Given the description of an element on the screen output the (x, y) to click on. 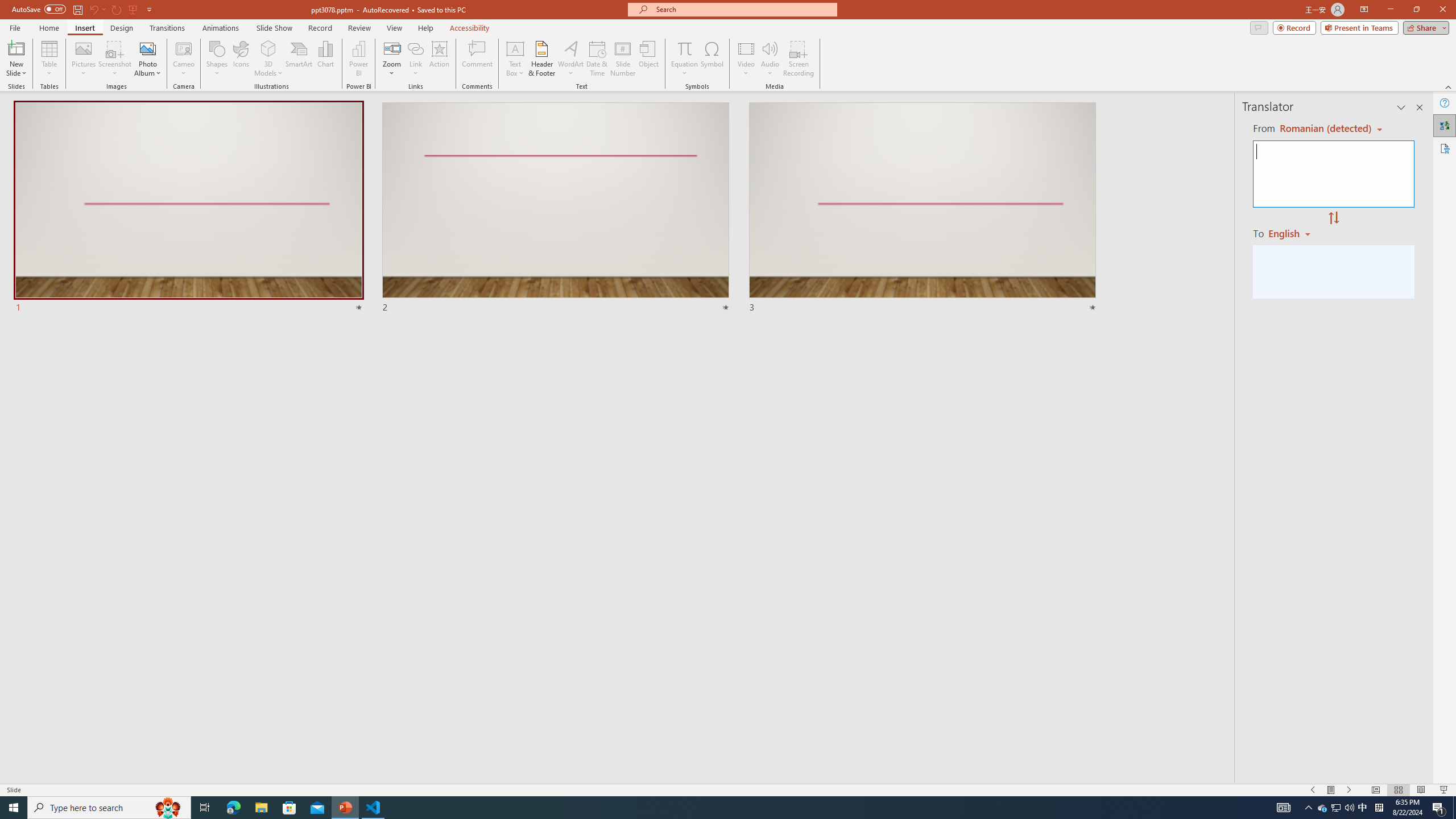
AutoSave (38, 9)
Action (439, 58)
Equation (683, 58)
3D Models (268, 48)
Cameo (183, 48)
3D Models (268, 58)
Screen Recording... (798, 58)
Link (415, 48)
Czech (detected) (1323, 128)
Symbol... (711, 58)
Slide Show Previous On (1313, 790)
